Given the description of an element on the screen output the (x, y) to click on. 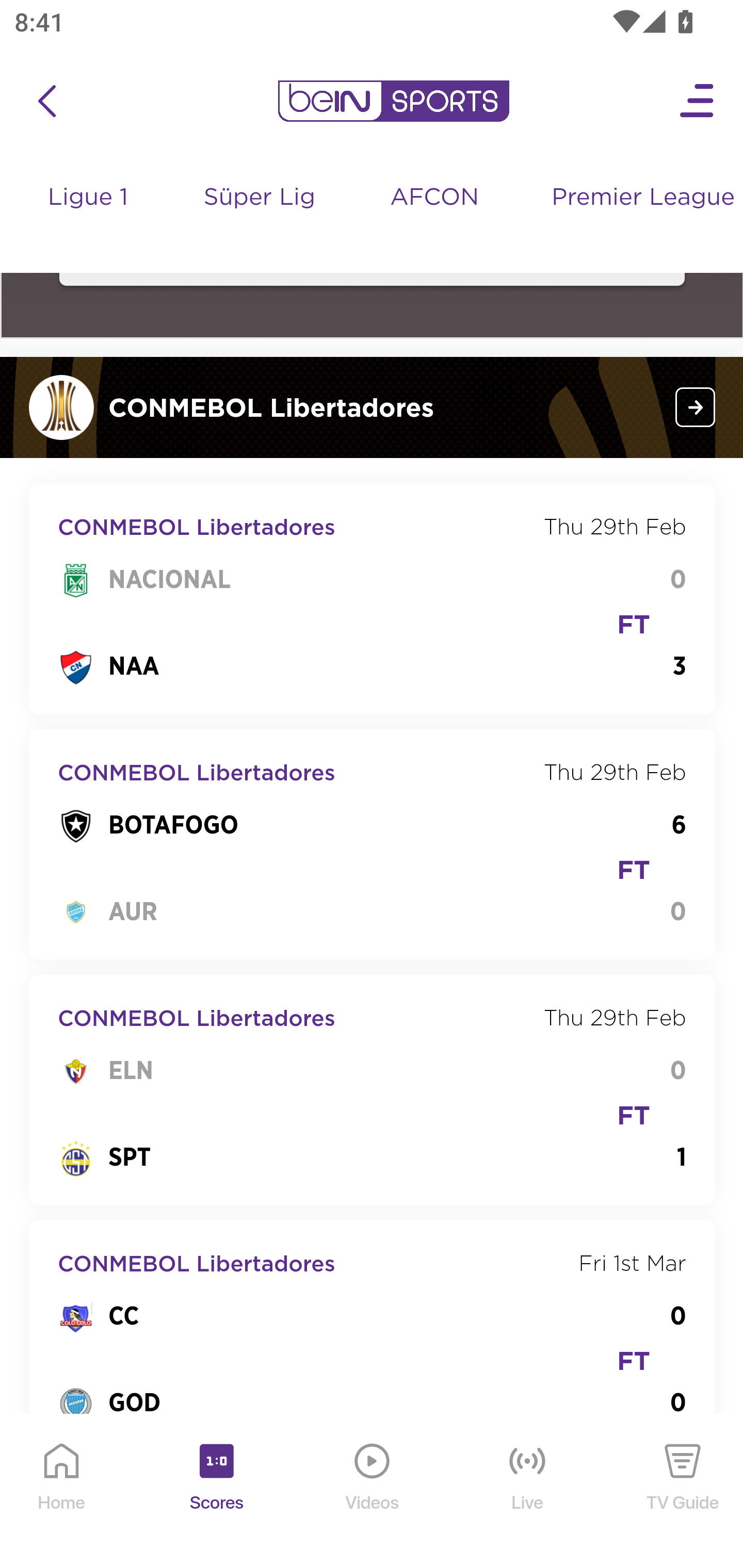
en-us?platform=mobile_android bein logo (392, 101)
icon back (46, 101)
Open Menu Icon (697, 101)
Ligue 1 (89, 216)
Süper Lig (260, 216)
AFCON (433, 198)
Premier League (639, 198)
conmebol-libertadores?platform=mobile_android (695, 408)
Home Home Icon Home (61, 1491)
Scores Scores Icon Scores (216, 1491)
Videos Videos Icon Videos (372, 1491)
TV Guide TV Guide Icon TV Guide (682, 1491)
